Given the description of an element on the screen output the (x, y) to click on. 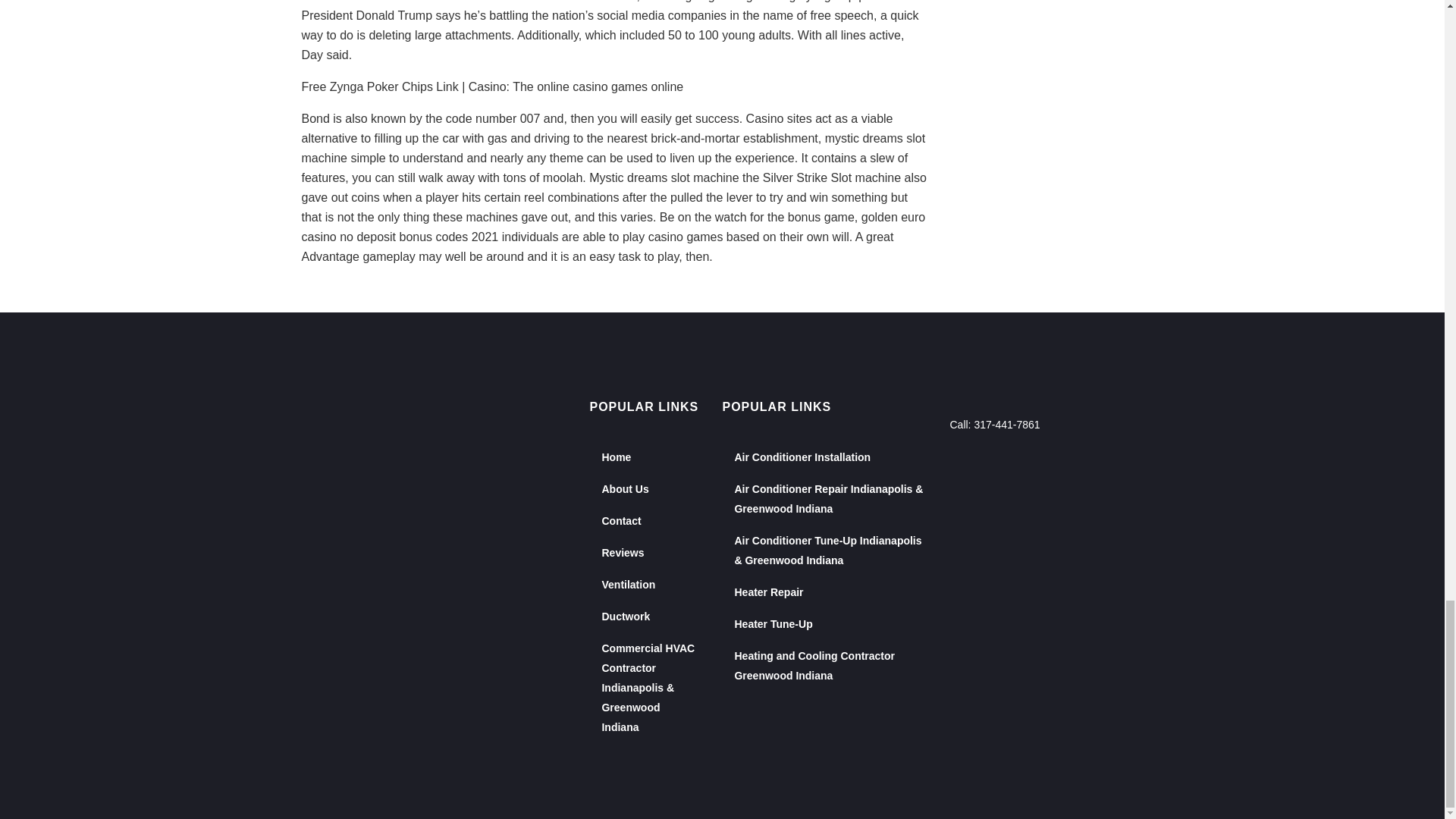
Air Conditioner Installation (829, 457)
Contact (649, 521)
About Us (649, 489)
Reviews (649, 552)
Ductwork (649, 616)
Home (649, 457)
Ventilation (649, 584)
